Given the description of an element on the screen output the (x, y) to click on. 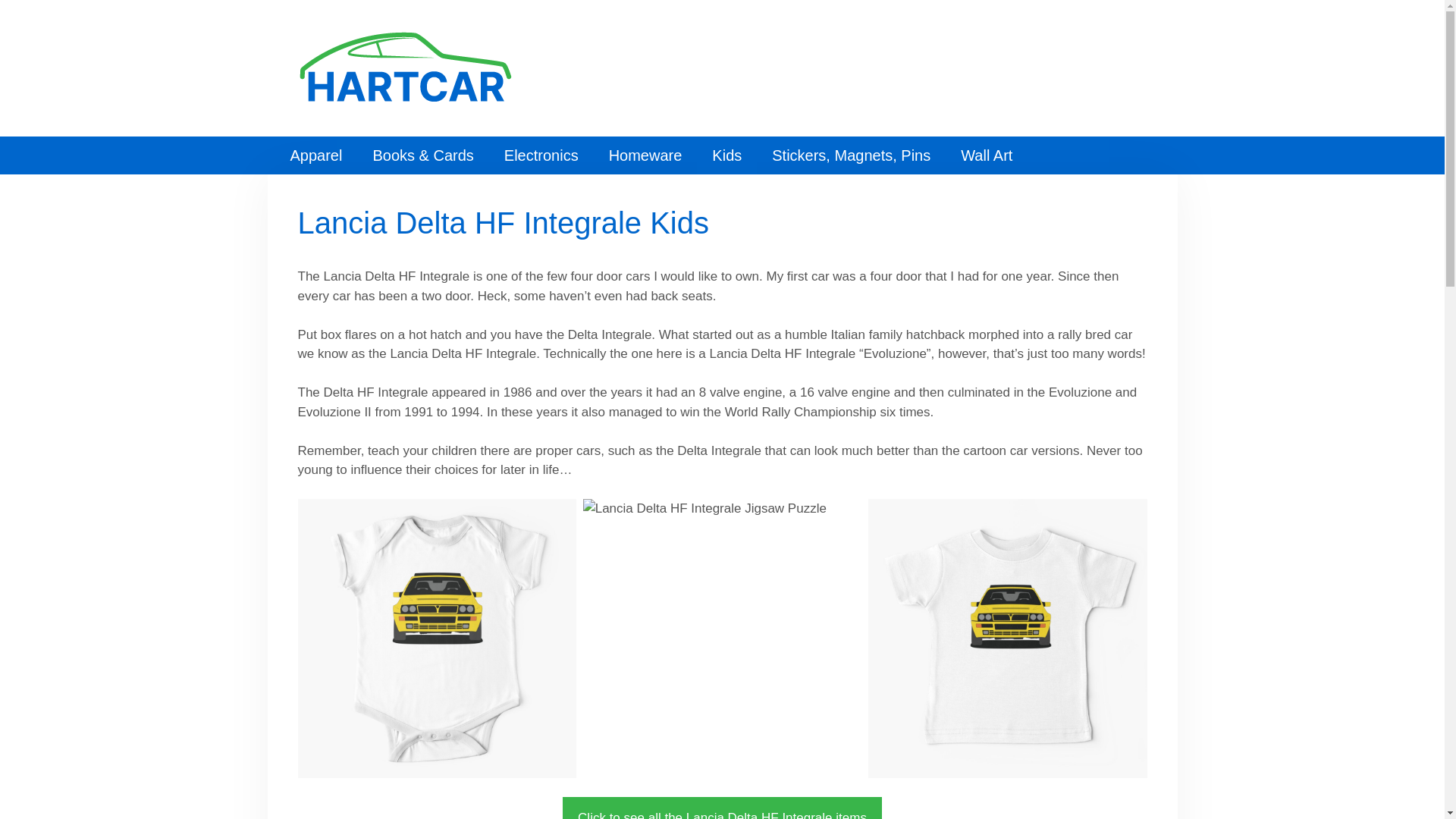
Stickers, Magnets, Pins (850, 155)
Kids (727, 155)
Click to see all the Lancia Delta HF Integrale items (722, 807)
Homeware (645, 155)
Electronics (541, 155)
Apparel (315, 155)
Wall Art (985, 155)
